Given the description of an element on the screen output the (x, y) to click on. 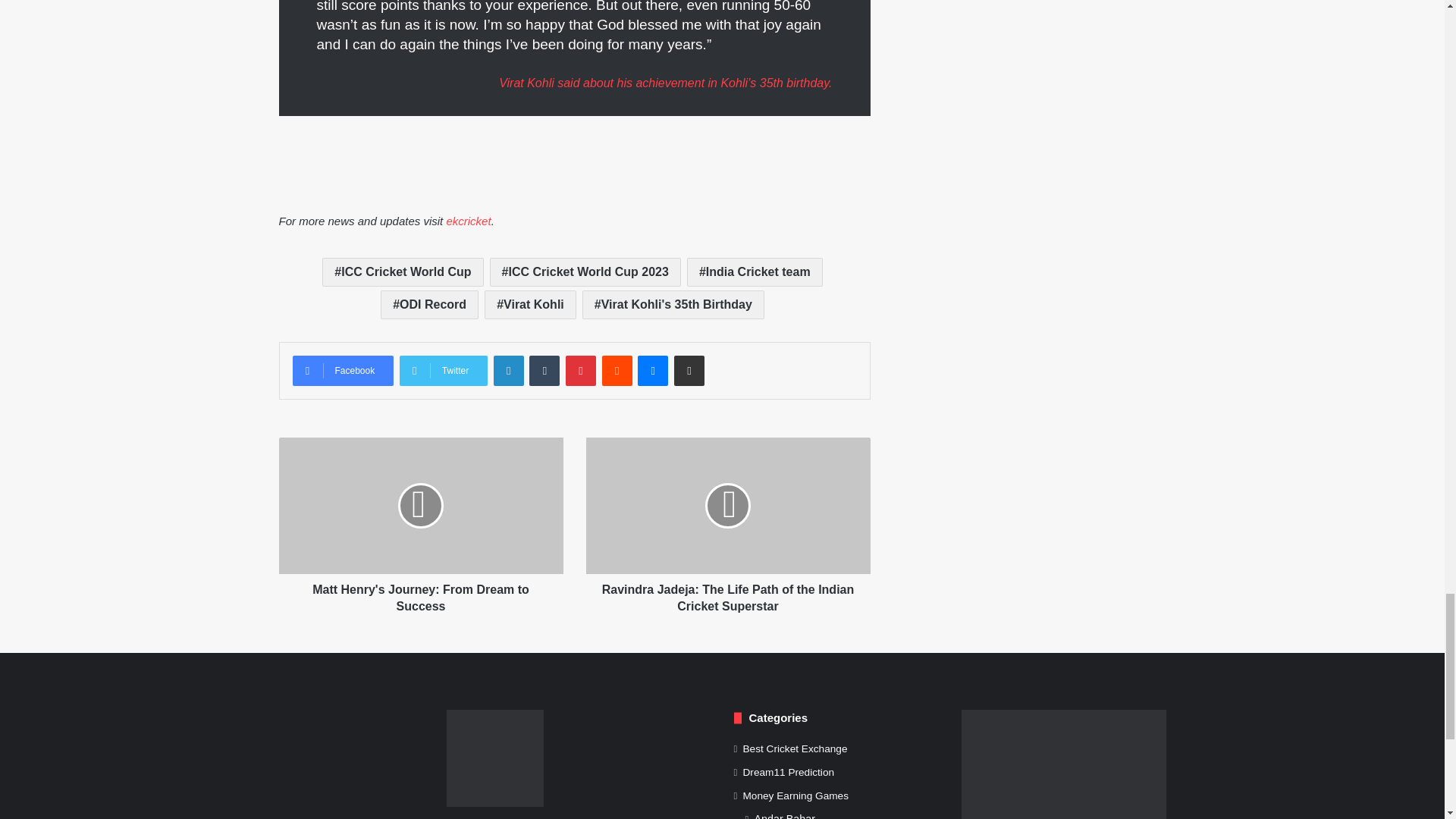
Facebook (343, 370)
Pinterest (580, 370)
Tumblr (544, 370)
Messenger (652, 370)
LinkedIn (508, 370)
Twitter (442, 370)
Reddit (616, 370)
